Given the description of an element on the screen output the (x, y) to click on. 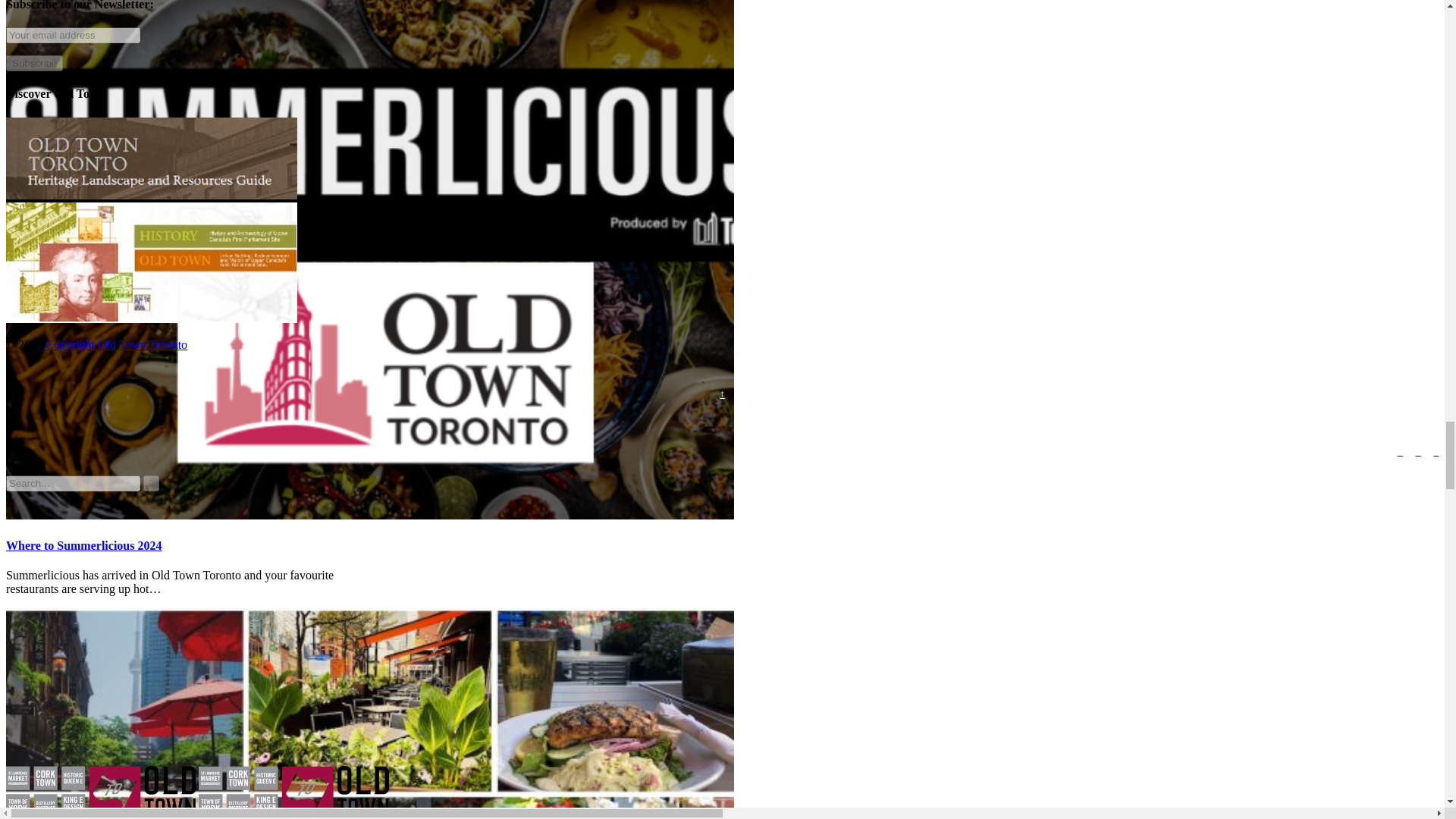
Subscribe (33, 63)
